Given the description of an element on the screen output the (x, y) to click on. 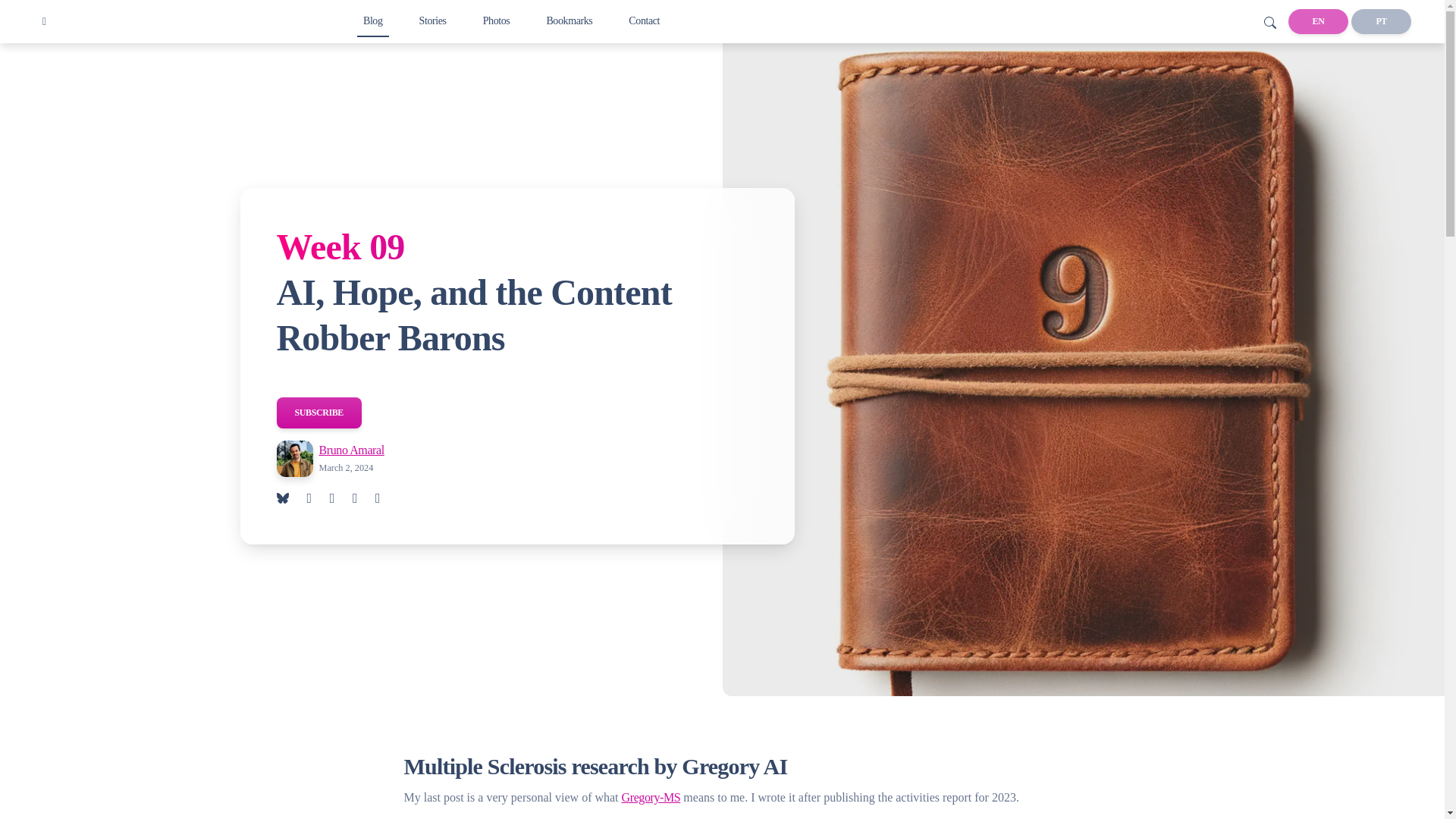
Post (372, 20)
Bookmarks (569, 20)
Come sit by the table, have a drink and read a tale (432, 20)
Photos (496, 20)
github (317, 498)
Stories (432, 20)
PT (1380, 21)
SUBSCRIBE (318, 412)
mastodon (386, 498)
Instagram (496, 20)
Seek and you will find (1269, 21)
Contact (644, 20)
Bruno Amaral (351, 449)
linkedin (363, 498)
Bruno's Notebook (44, 20)
